Given the description of an element on the screen output the (x, y) to click on. 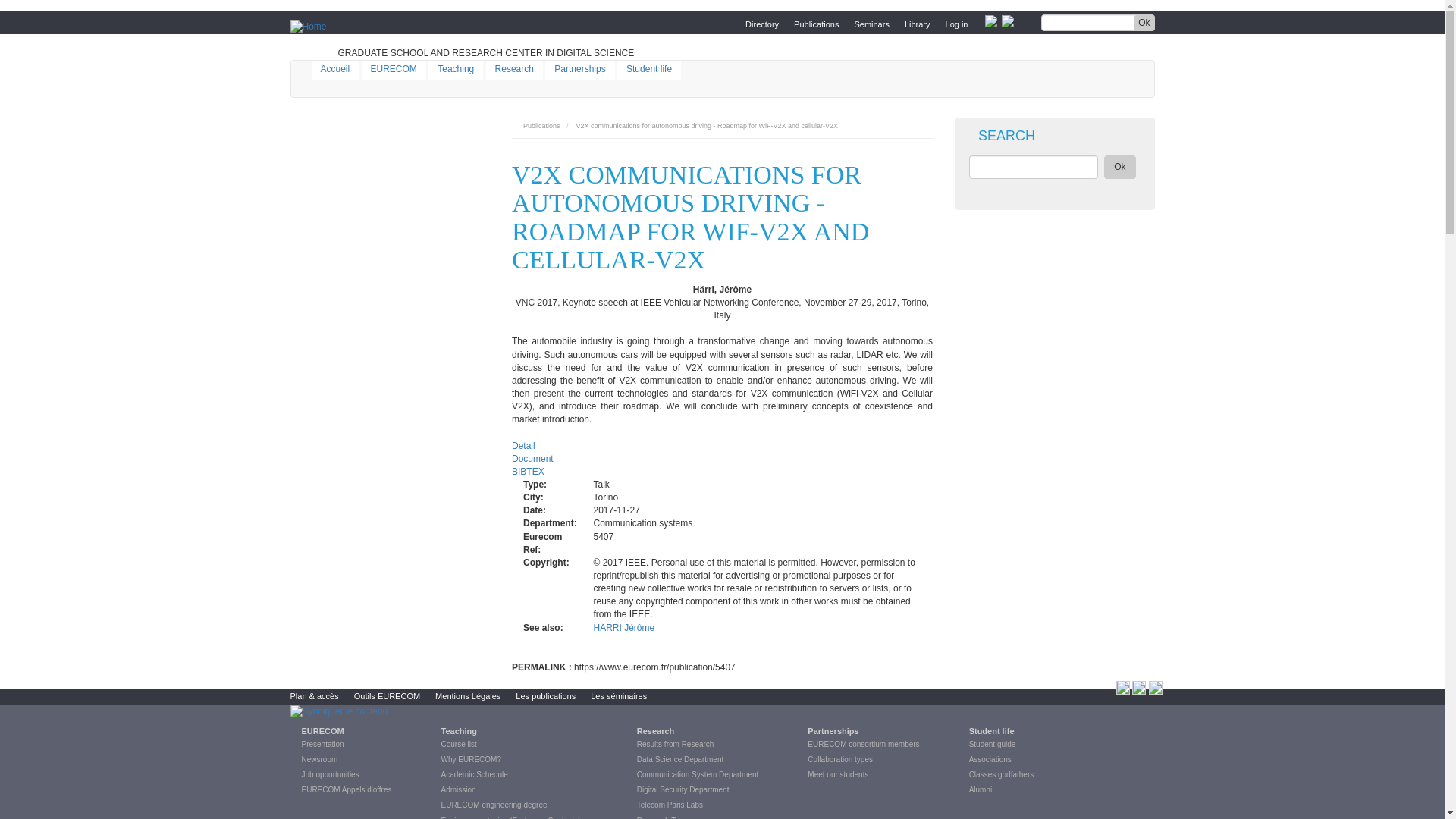
Student life (649, 69)
Ok (1144, 23)
Syndiquer (338, 711)
Home (307, 47)
Research (514, 69)
Directory (762, 18)
Job opportunities (323, 774)
Publications (541, 125)
EURECOM (393, 69)
Teaching (455, 69)
